Given the description of an element on the screen output the (x, y) to click on. 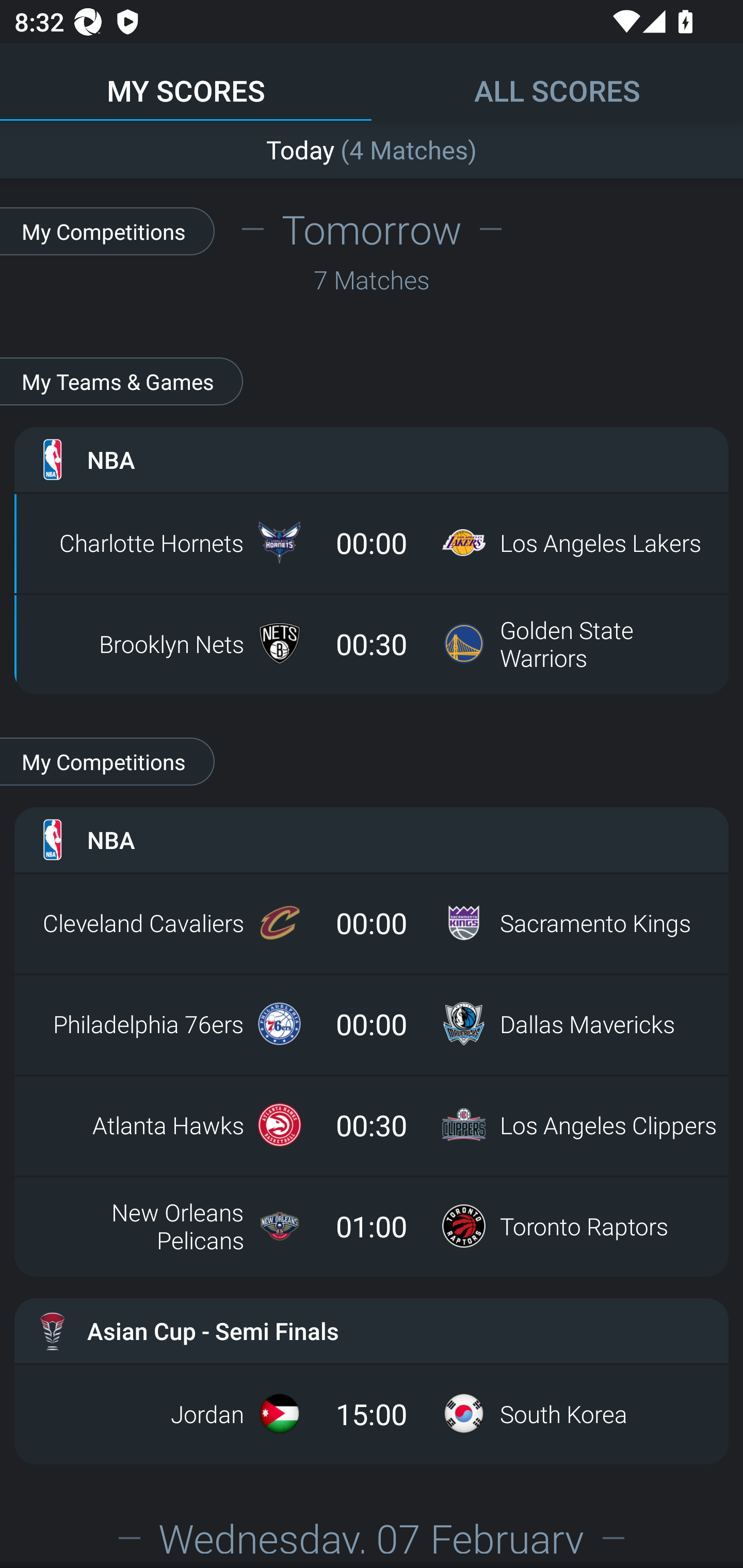
MY SCORES (185, 81)
ALL SCORES (557, 81)
NBA (371, 459)
Charlotte Hornets 00:00 Los Angeles Lakers (371, 542)
Brooklyn Nets 00:30 Golden State Warriors (371, 643)
NBA (371, 839)
Cleveland Cavaliers 00:00 Sacramento Kings (371, 922)
Philadelphia 76ers 00:00 Dallas Mavericks (371, 1023)
Atlanta Hawks 00:30 Los Angeles Clippers (371, 1125)
New Orleans Pelicans 01:00 Toronto Raptors (371, 1226)
Asian Cup - Semi Finals (371, 1330)
Jordan 15:00 South Korea (371, 1413)
